Given the description of an element on the screen output the (x, y) to click on. 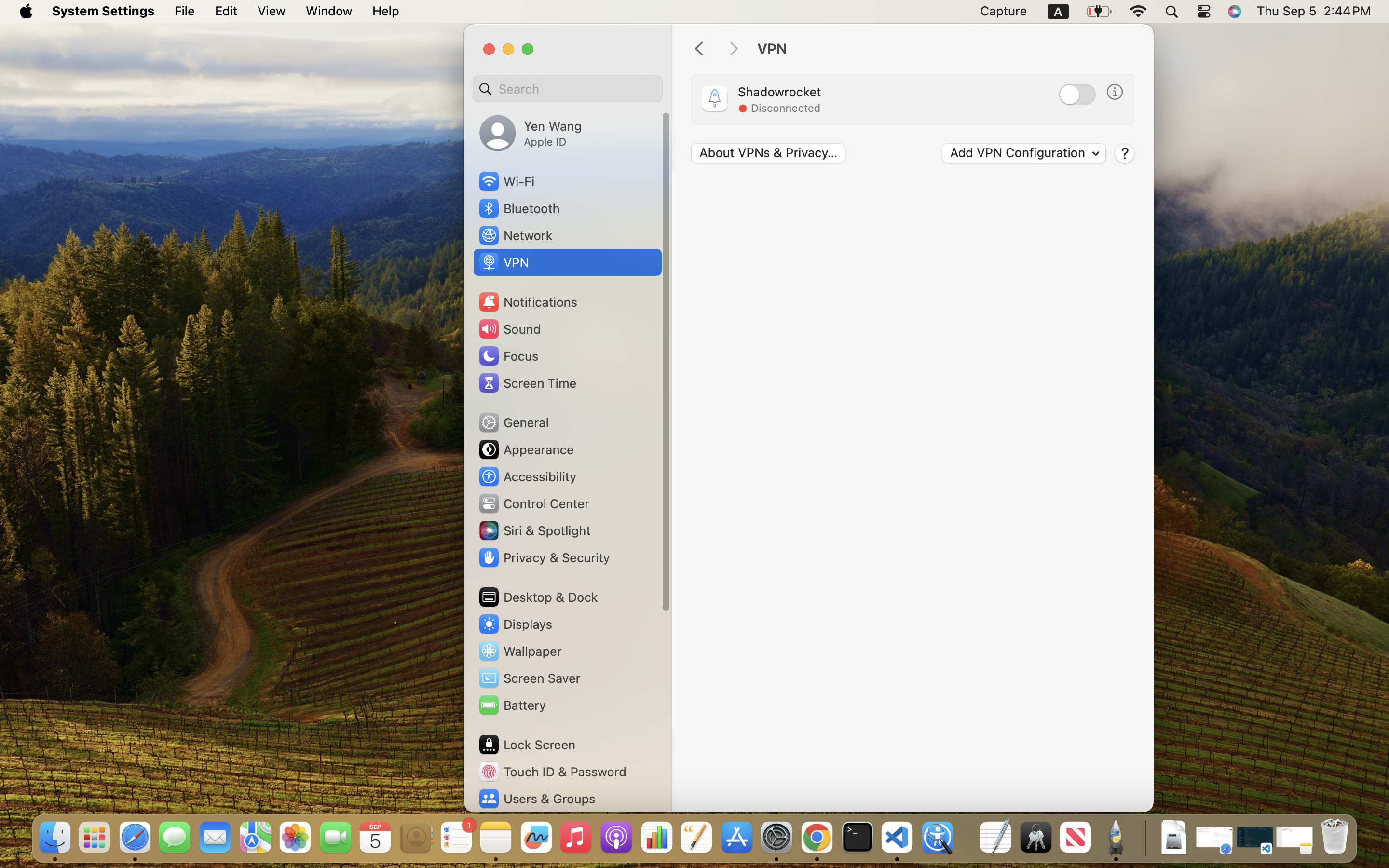
Disconnected Element type: AXStaticText (784, 107)
VPN Element type: AXStaticText (945, 49)
Screen Saver Element type: AXStaticText (528, 677)
Control Center Element type: AXStaticText (533, 503)
Siri & Spotlight Element type: AXStaticText (533, 530)
